Given the description of an element on the screen output the (x, y) to click on. 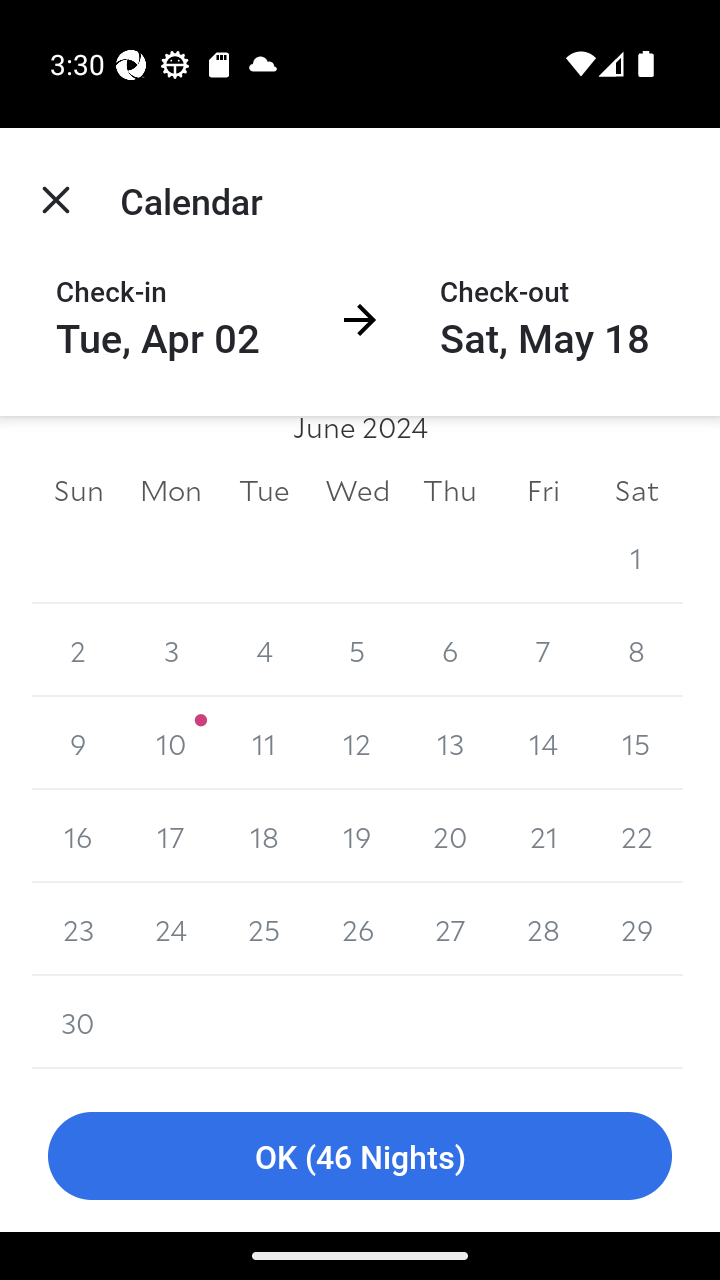
Sun (78, 489)
Mon (171, 489)
Tue (264, 489)
Wed (357, 489)
Thu (449, 489)
Fri (542, 489)
Sat (636, 489)
1 1 June 2024 (636, 557)
2 2 June 2024 (78, 650)
3 3 June 2024 (171, 650)
4 4 June 2024 (264, 650)
5 5 June 2024 (357, 650)
6 6 June 2024 (449, 650)
7 7 June 2024 (542, 650)
8 8 June 2024 (636, 650)
9 9 June 2024 (78, 743)
10 10 June 2024 (171, 743)
11 11 June 2024 (264, 743)
12 12 June 2024 (357, 743)
13 13 June 2024 (449, 743)
14 14 June 2024 (542, 743)
15 15 June 2024 (636, 743)
16 16 June 2024 (78, 836)
17 17 June 2024 (171, 836)
18 18 June 2024 (264, 836)
19 19 June 2024 (357, 836)
20 20 June 2024 (449, 836)
21 21 June 2024 (542, 836)
22 22 June 2024 (636, 836)
23 23 June 2024 (78, 929)
24 24 June 2024 (171, 929)
25 25 June 2024 (264, 929)
26 26 June 2024 (357, 929)
27 27 June 2024 (449, 929)
28 28 June 2024 (542, 929)
29 29 June 2024 (636, 929)
30 30 June 2024 (78, 1021)
OK (46 Nights) (359, 1156)
